Given the description of an element on the screen output the (x, y) to click on. 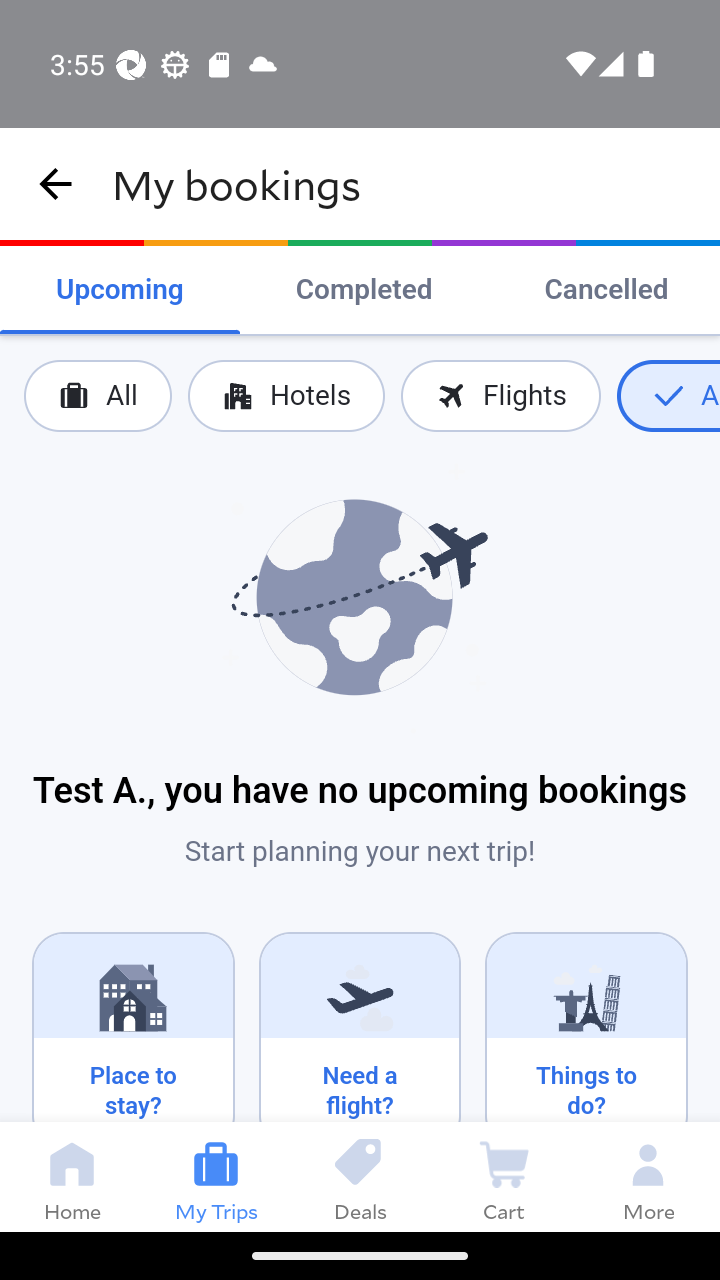
navigation_button (56, 184)
Upcoming (119, 289)
Completed (363, 289)
Cancelled (606, 289)
All (97, 395)
Hotels (285, 395)
Flights (500, 395)
Activities (668, 395)
Home (72, 1176)
My Trips (216, 1176)
Deals (360, 1176)
Cart (504, 1176)
More (648, 1176)
